Given the description of an element on the screen output the (x, y) to click on. 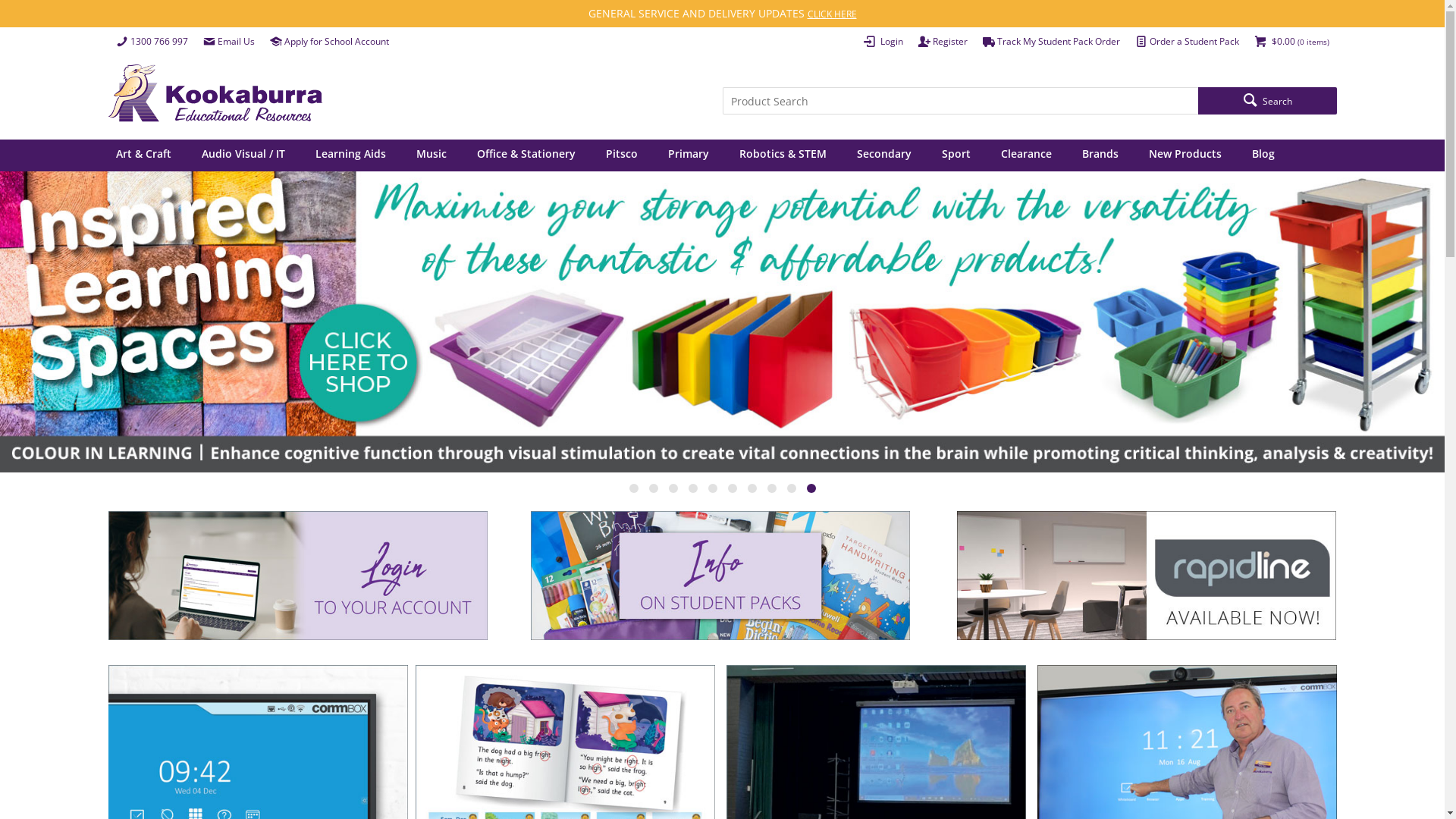
Apply for School Account Element type: text (329, 41)
Learning Aids Element type: text (349, 155)
Sport Element type: text (955, 155)
Primary Element type: text (688, 155)
Audio Visual / IT Element type: text (242, 155)
Robotics & STEM Element type: text (782, 155)
Pitsco Element type: text (621, 155)
Login Element type: text (882, 41)
Order a Student Pack Element type: text (1185, 41)
Email Us Element type: text (228, 41)
New Products Element type: text (1185, 155)
Office & Stationery Element type: text (525, 155)
Clearance Element type: text (1025, 155)
Art & Craft Element type: text (144, 155)
Brands Element type: text (1099, 155)
Track My Student Pack Order Element type: text (1051, 41)
CLICK HERE Element type: text (831, 13)
Secondary Element type: text (883, 155)
$0.00 (0 items) Element type: text (1291, 41)
Blog Element type: text (1263, 155)
Search Element type: text (1267, 100)
Register Element type: text (942, 41)
Music Element type: text (431, 155)
